Given the description of an element on the screen output the (x, y) to click on. 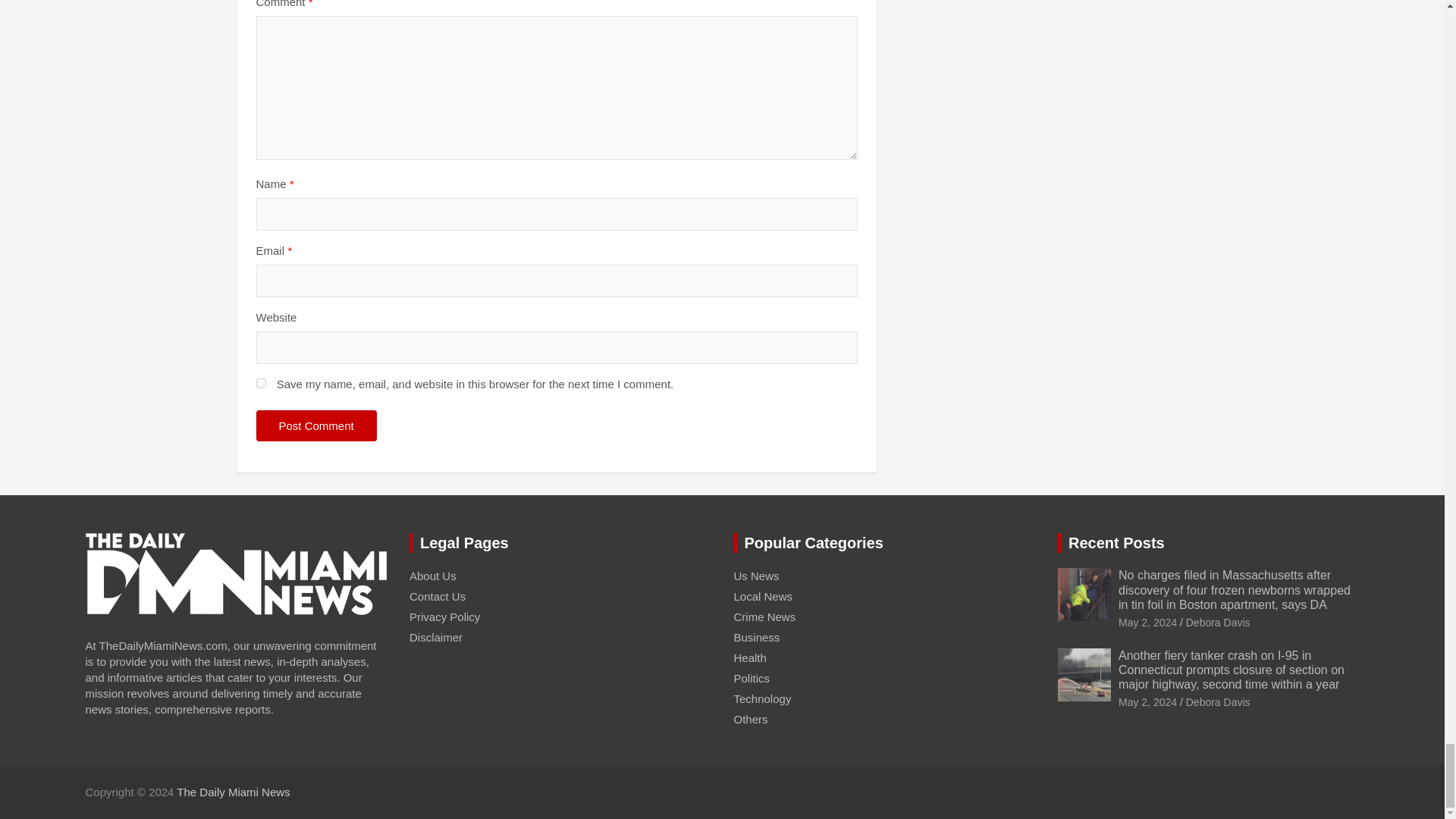
The Daily Miami News (232, 791)
Post Comment (316, 425)
Post Comment (316, 425)
yes (261, 383)
